Given the description of an element on the screen output the (x, y) to click on. 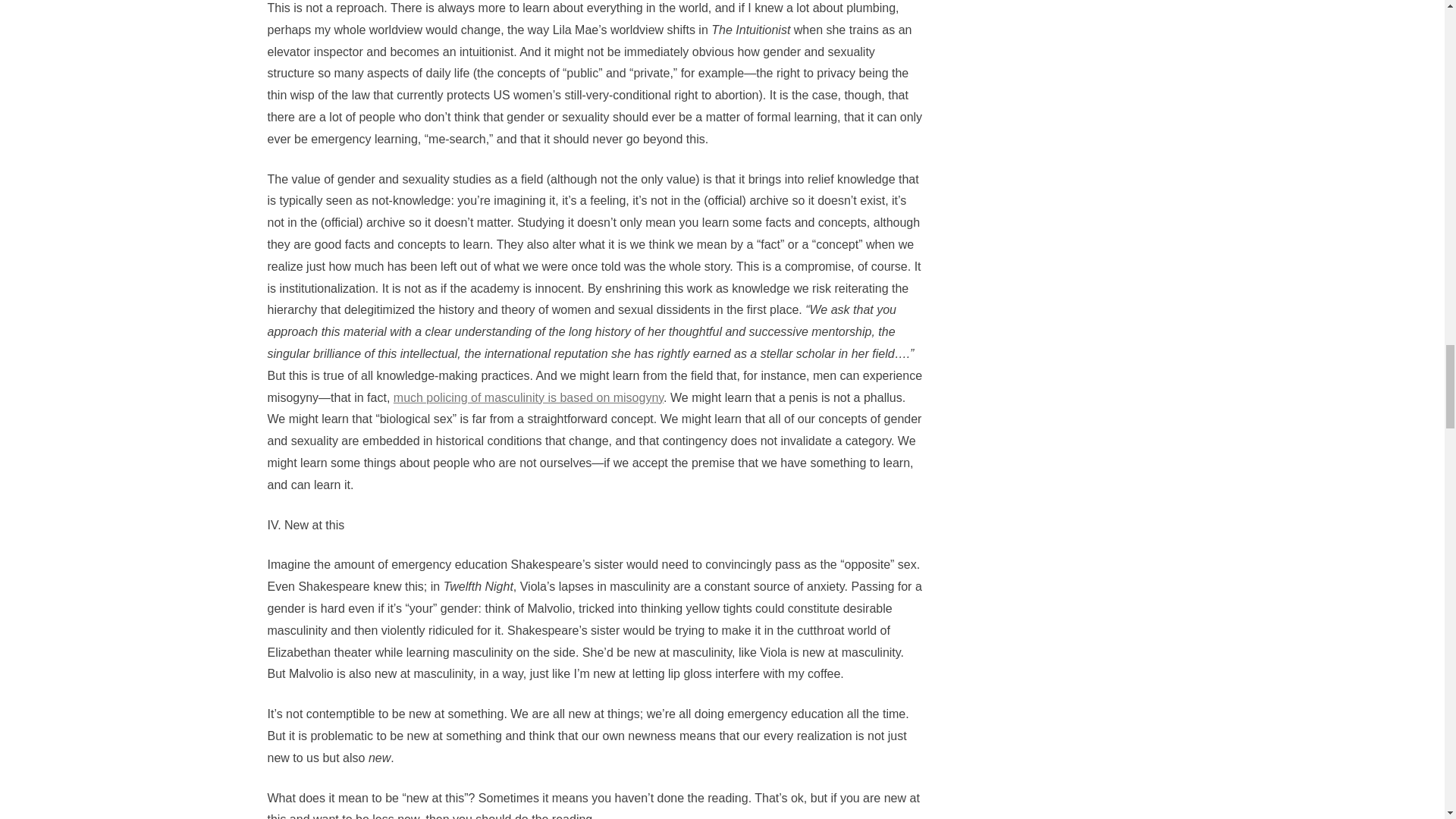
much policing of masculinity is based on misogyny (528, 397)
